Given the description of an element on the screen output the (x, y) to click on. 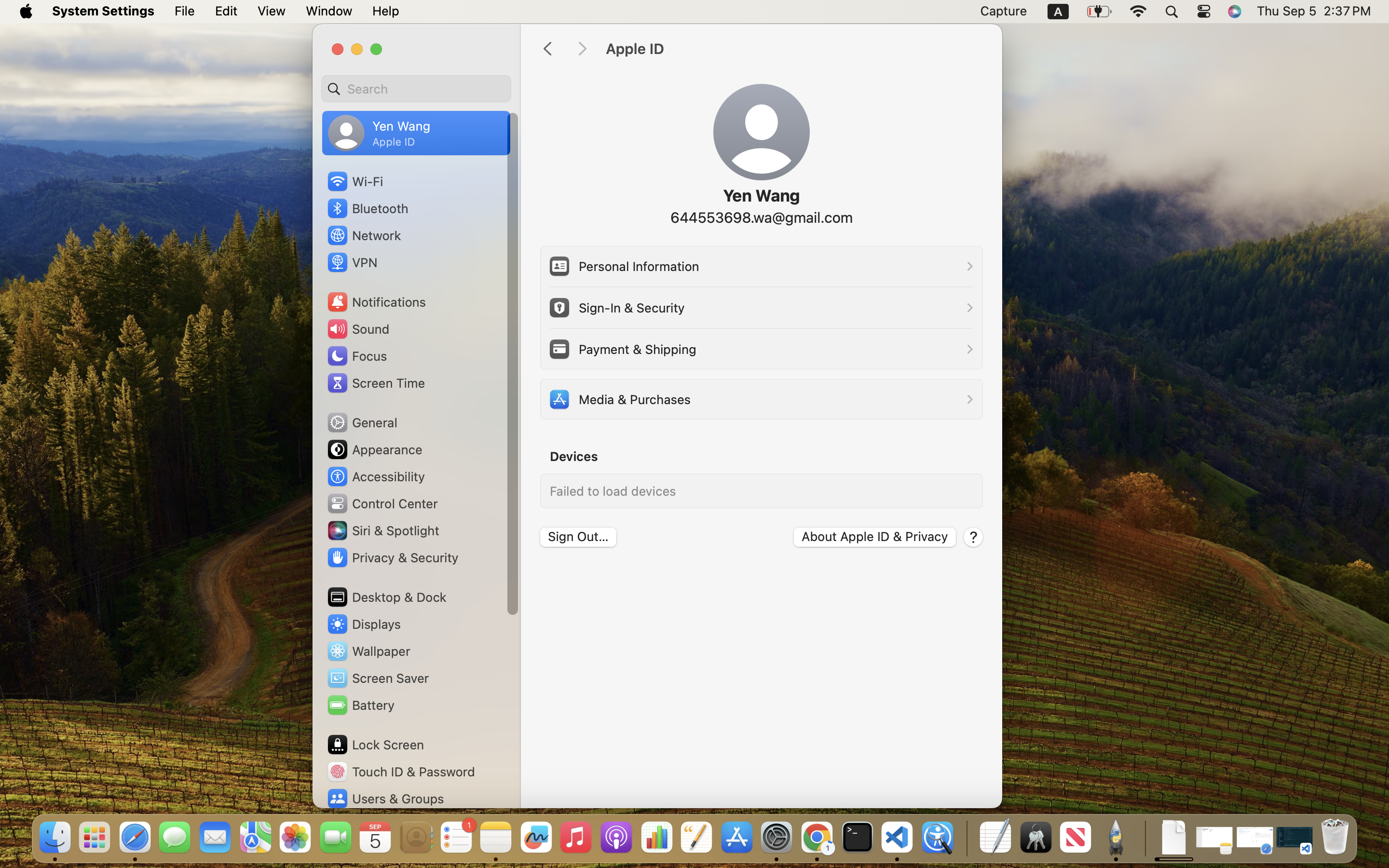
Appearance Element type: AXStaticText (374, 449)
Touch ID & Password Element type: AXStaticText (400, 771)
Sound Element type: AXStaticText (357, 328)
Failed to load devices Element type: AXStaticText (612, 490)
Desktop & Dock Element type: AXStaticText (386, 596)
